Given the description of an element on the screen output the (x, y) to click on. 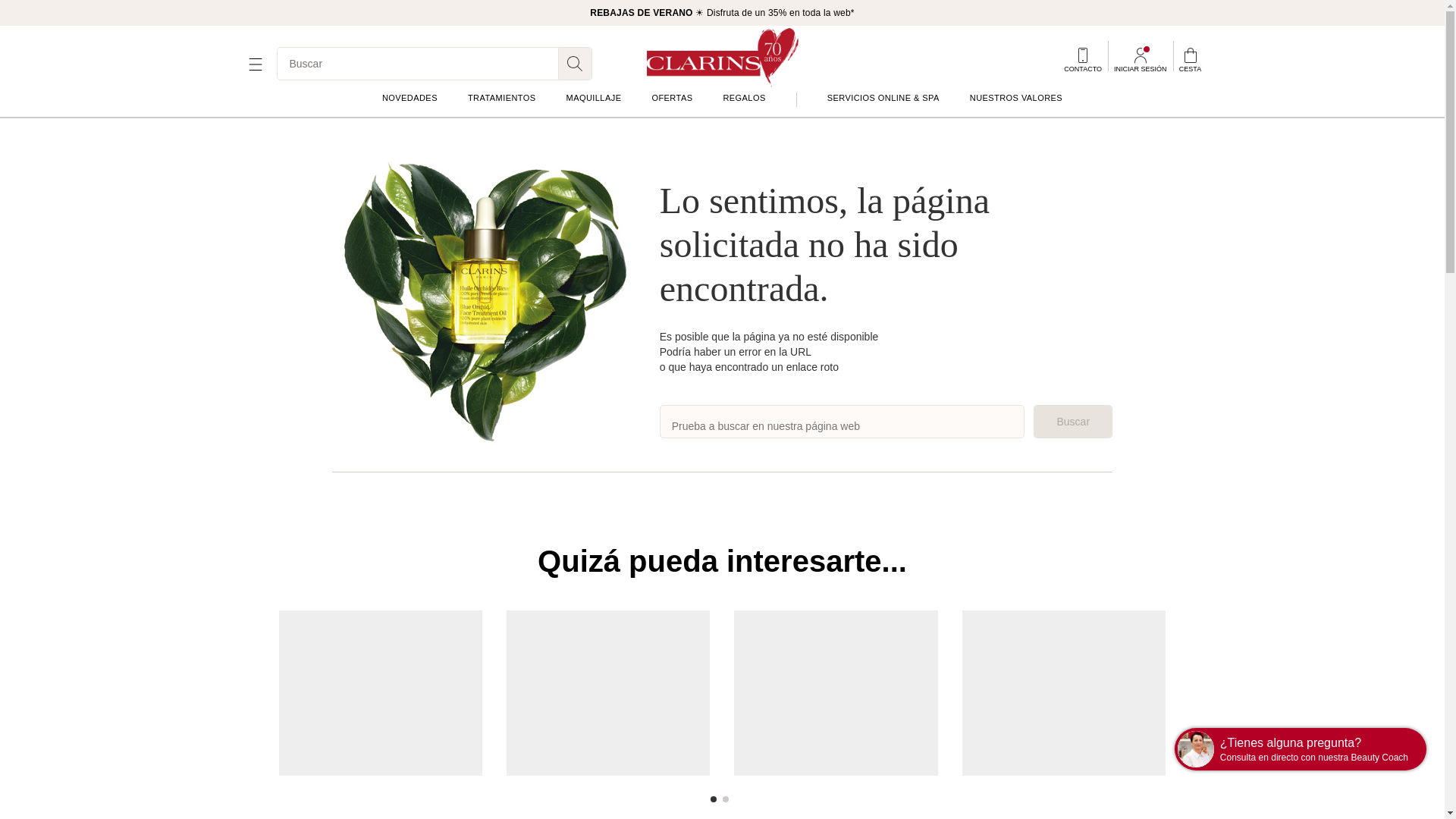
Contacto (1083, 59)
NOVEDADES (409, 97)
Clarins Home (722, 56)
TRATAMIENTOS (501, 97)
CONTACTO (1083, 59)
Cesta (1189, 59)
CESTA (1189, 59)
